Given the description of an element on the screen output the (x, y) to click on. 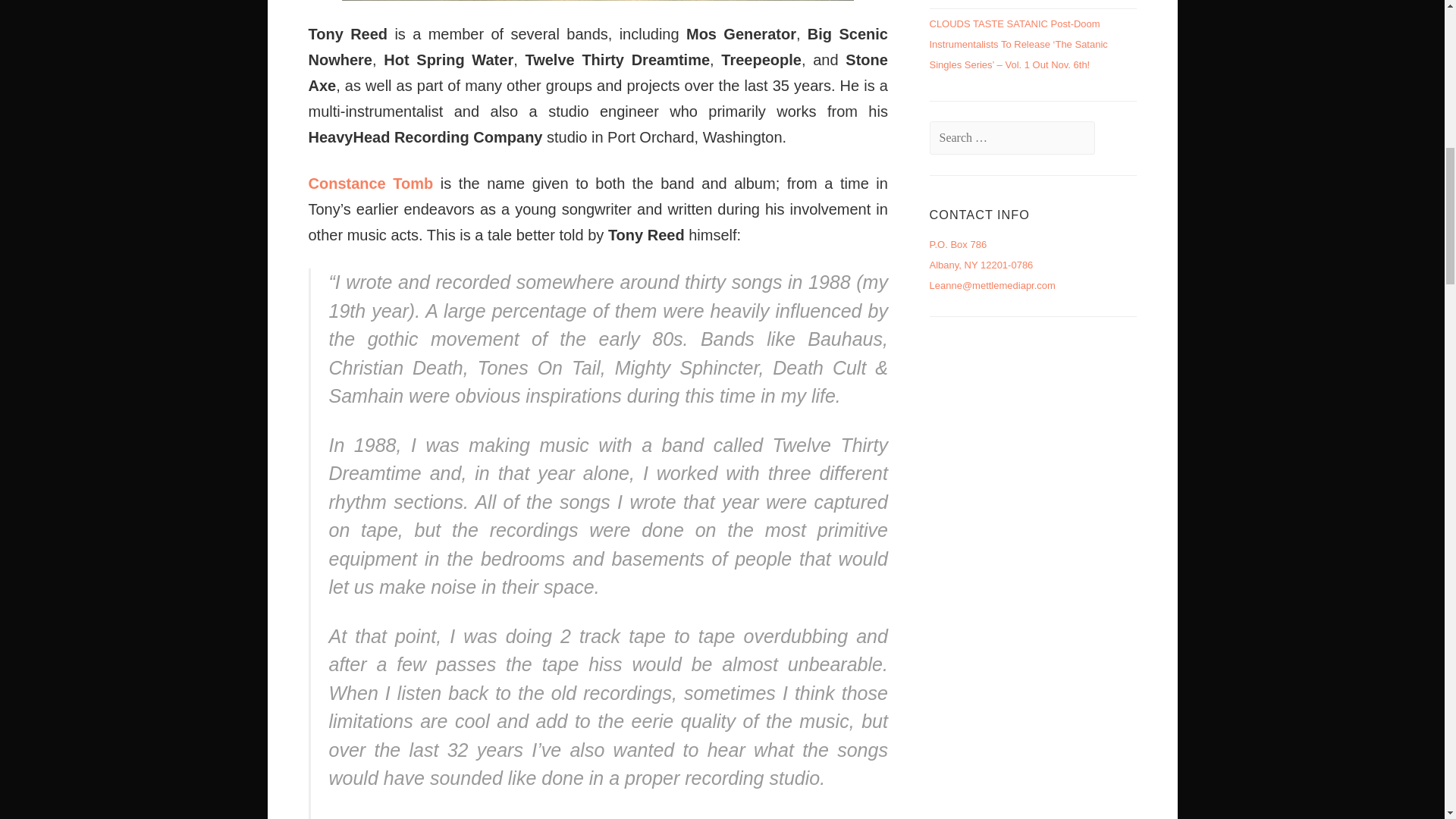
Constance Tomb (369, 183)
